Given the description of an element on the screen output the (x, y) to click on. 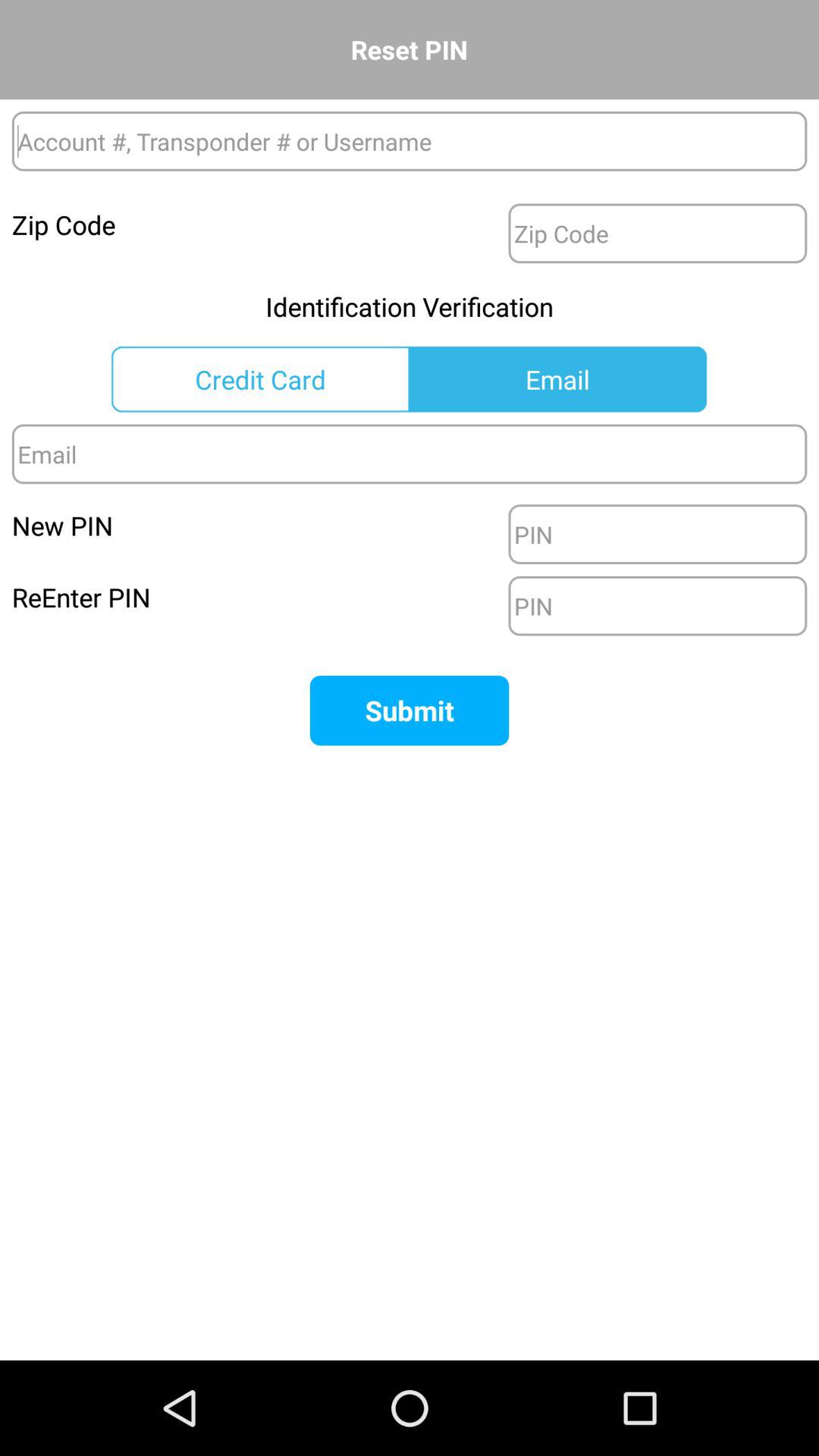
go to email (409, 454)
select the zip code box (657, 233)
select the text which is left to the email (260, 379)
click on the text box below reset pin option (409, 141)
select email button after credit card on the page (557, 379)
